Given the description of an element on the screen output the (x, y) to click on. 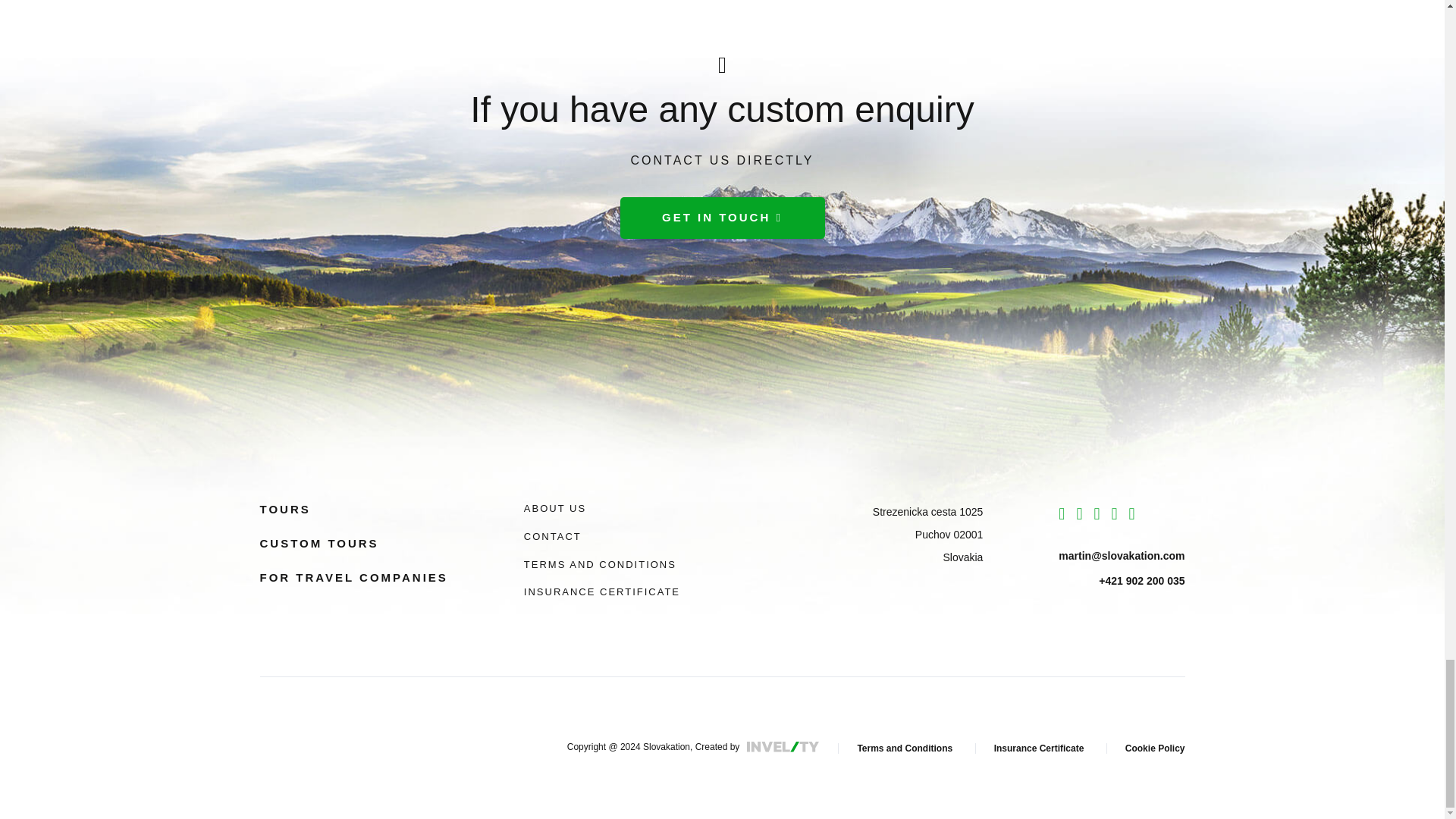
INSURANCE CERTIFICATE (601, 591)
CUSTOM TOURS (318, 543)
TOURS (284, 508)
GET IN TOUCH (722, 218)
TERMS AND CONDITIONS (600, 564)
ABOUT US (555, 508)
CONTACT (552, 536)
FOR TRAVEL COMPANIES (352, 576)
